Given the description of an element on the screen output the (x, y) to click on. 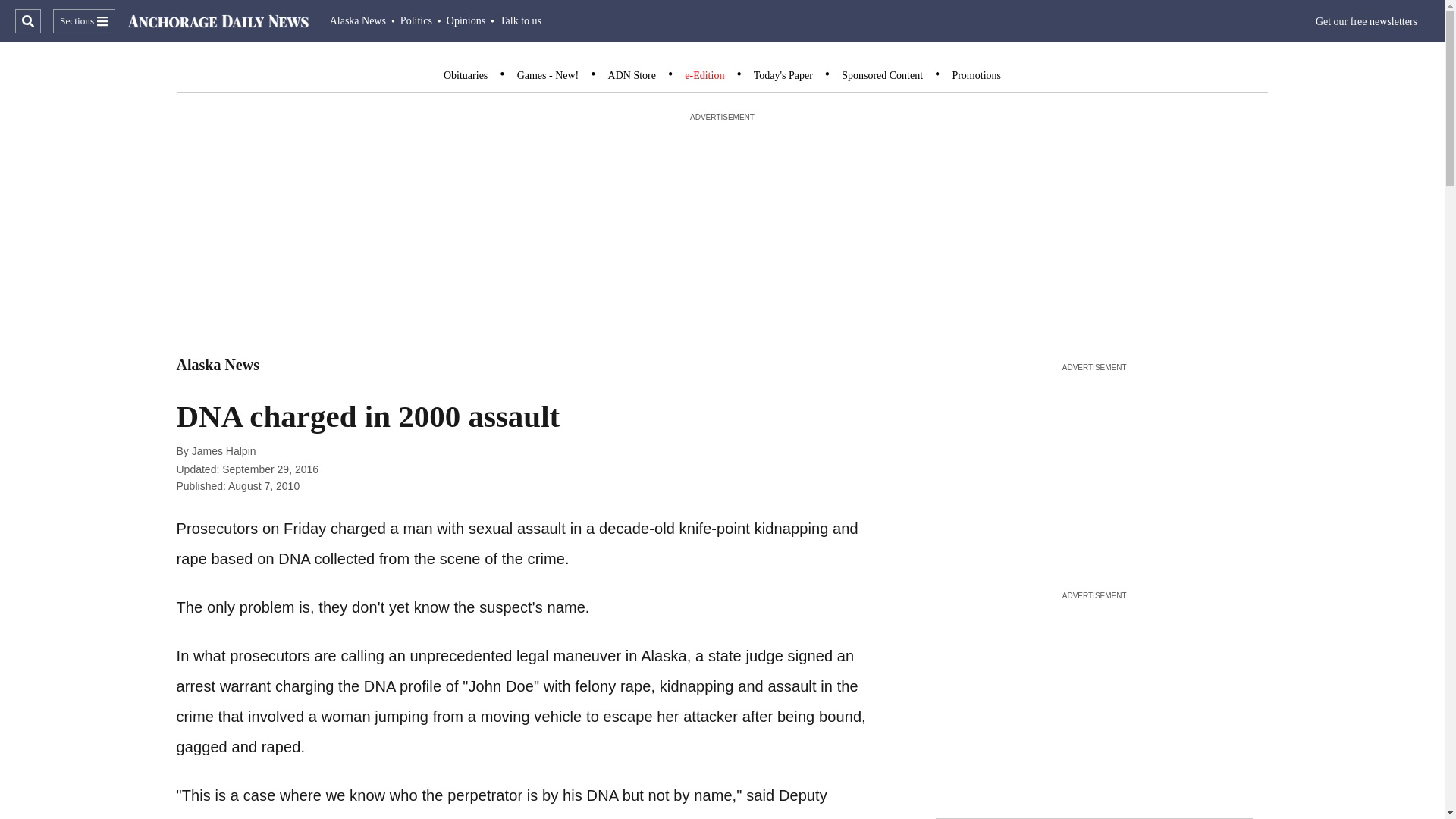
Get our free newsletters (1366, 21)
Sections (83, 21)
Opinions (465, 20)
Alaska News (357, 20)
Politics (416, 20)
ADN Logo (218, 20)
